Given the description of an element on the screen output the (x, y) to click on. 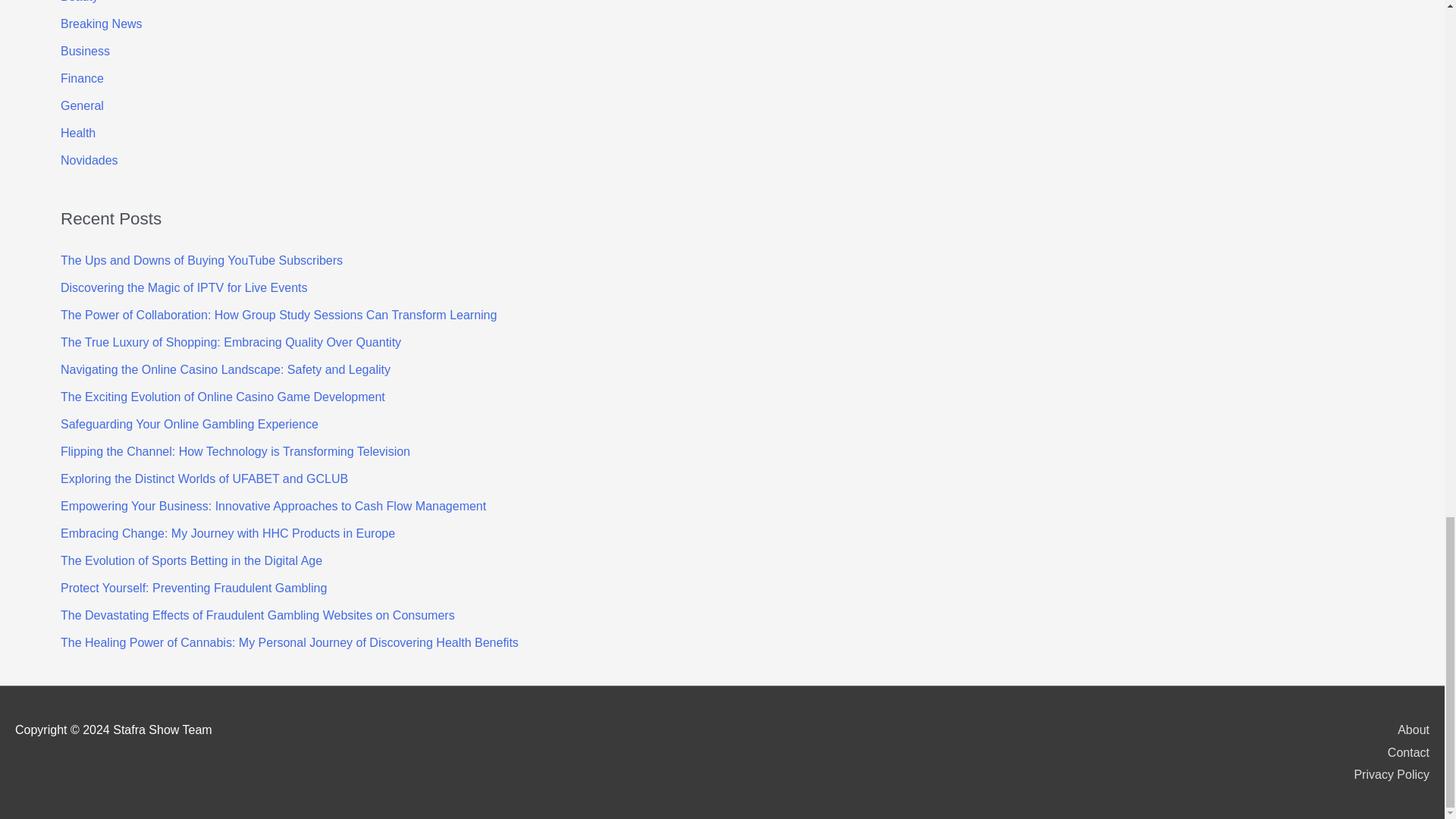
Health (78, 132)
Breaking News (101, 23)
Finance (82, 78)
The True Luxury of Shopping: Embracing Quality Over Quantity (231, 341)
Navigating the Online Casino Landscape: Safety and Legality (225, 369)
The Ups and Downs of Buying YouTube Subscribers (201, 259)
Safeguarding Your Online Gambling Experience (189, 423)
Beauty (80, 1)
Discovering the Magic of IPTV for Live Events (184, 287)
